Given the description of an element on the screen output the (x, y) to click on. 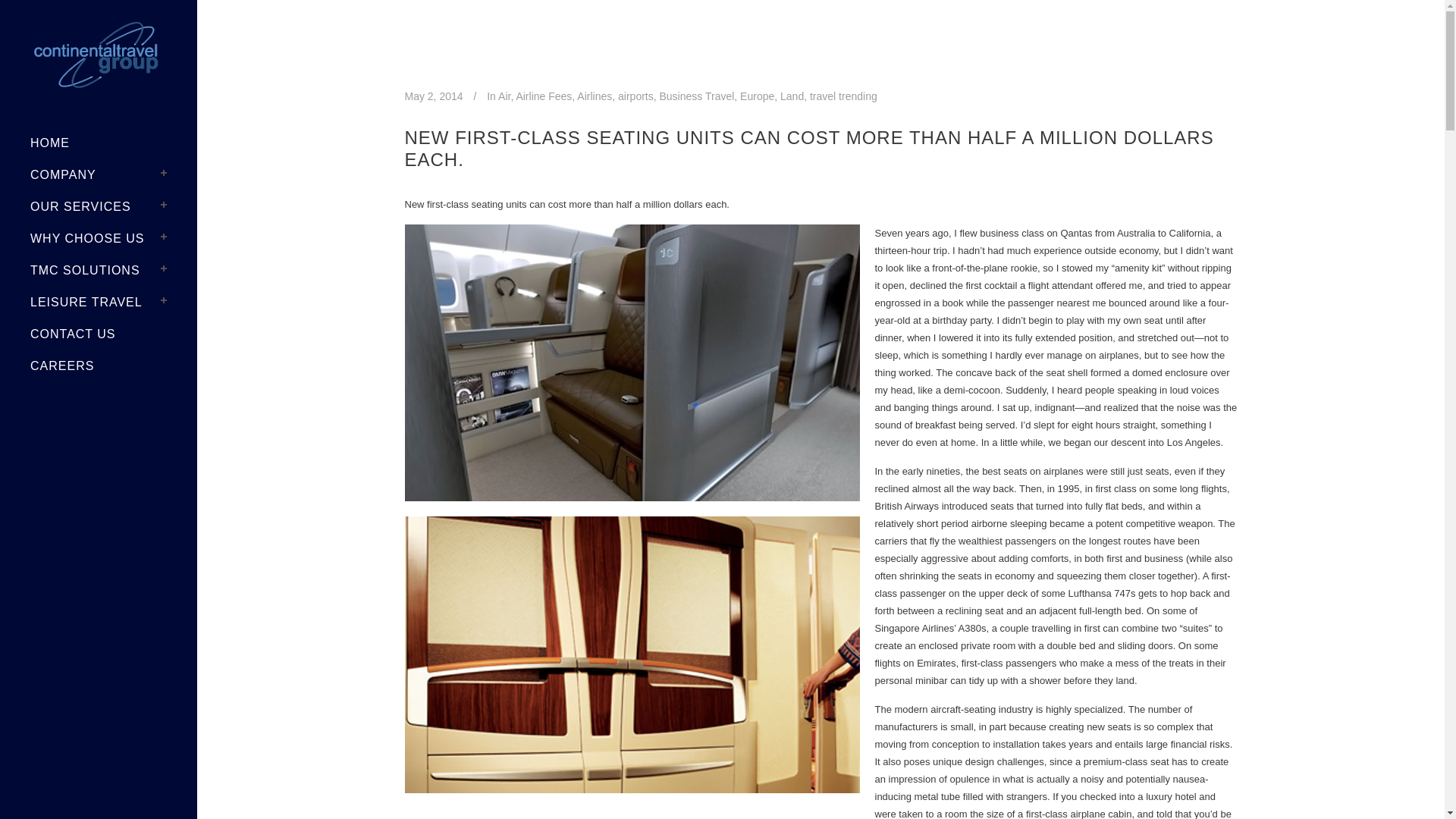
CAREERS (98, 366)
WHY CHOOSE US (98, 238)
HOME (98, 142)
TMC SOLUTIONS (98, 270)
OUR SERVICES (98, 206)
CONTACT US (98, 334)
LEISURE TRAVEL (98, 302)
COMPANY (98, 174)
